Given the description of an element on the screen output the (x, y) to click on. 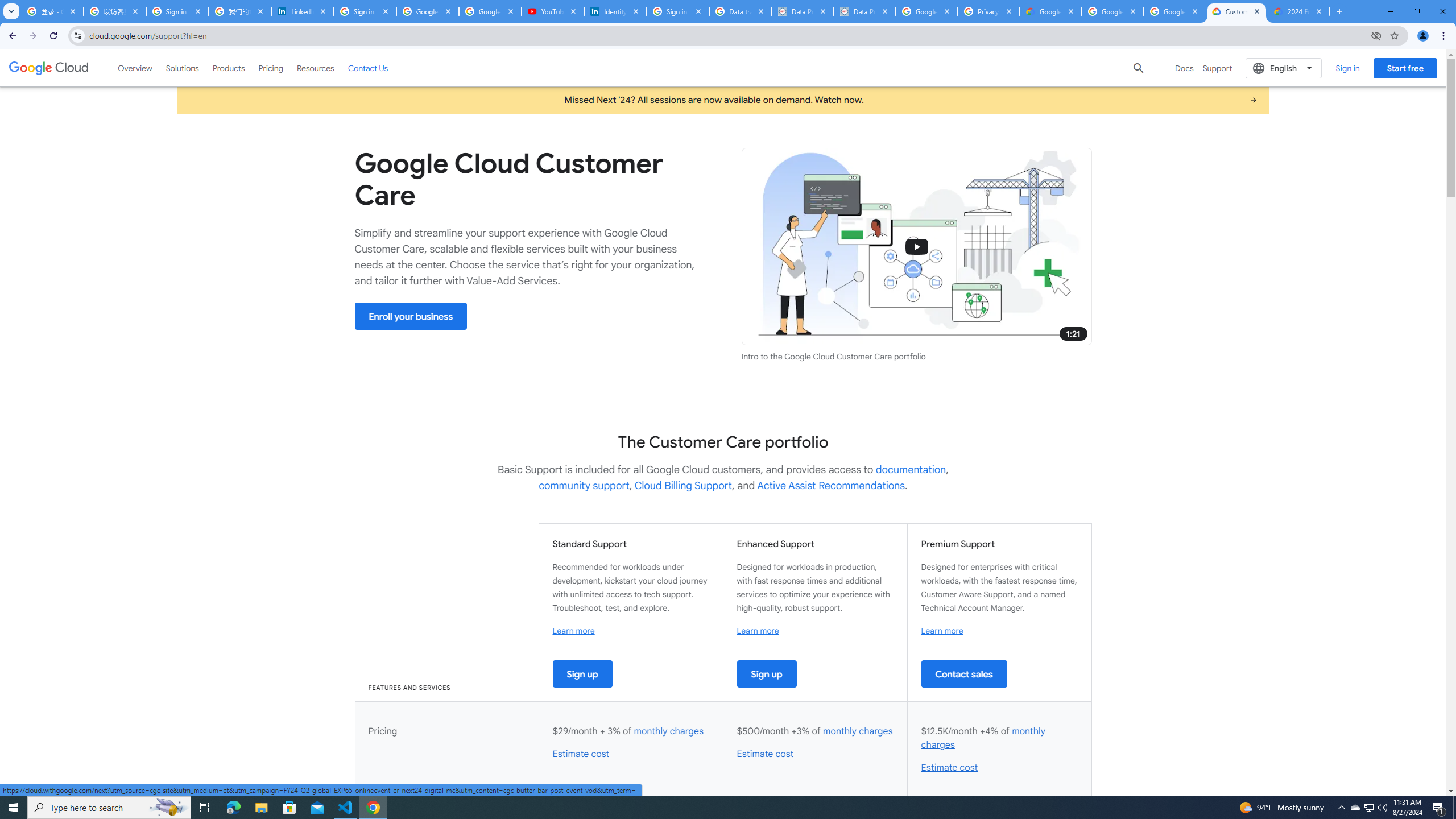
Contact Us (368, 67)
Google Cloud (48, 67)
Estimate cost (949, 767)
Contact sales (963, 673)
Start free (1405, 67)
community support (583, 485)
Cloud Billing Support (683, 485)
Support illustration (916, 246)
